Given the description of an element on the screen output the (x, y) to click on. 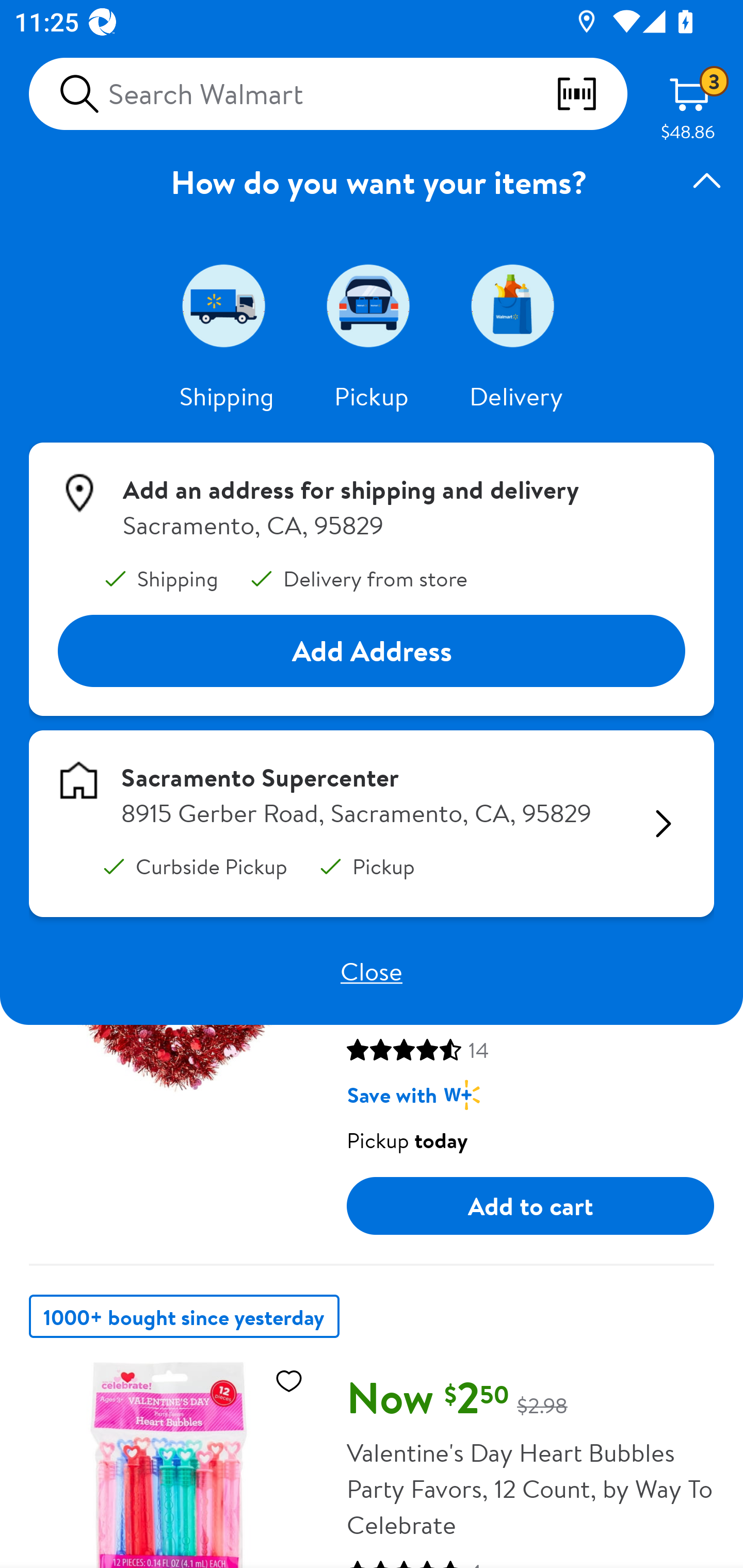
Search Walmart scan barcodes qr codes and more (327, 94)
scan barcodes qr codes and more (591, 94)
How do you want your items? expanded (371, 181)
Shipping 1 of 3 (226, 305)
Pickup 2 of 3 (371, 305)
Delivery 3 of 3 (515, 305)
Add Address (371, 650)
Close (371, 970)
Add to cart (530, 1206)
